Given the description of an element on the screen output the (x, y) to click on. 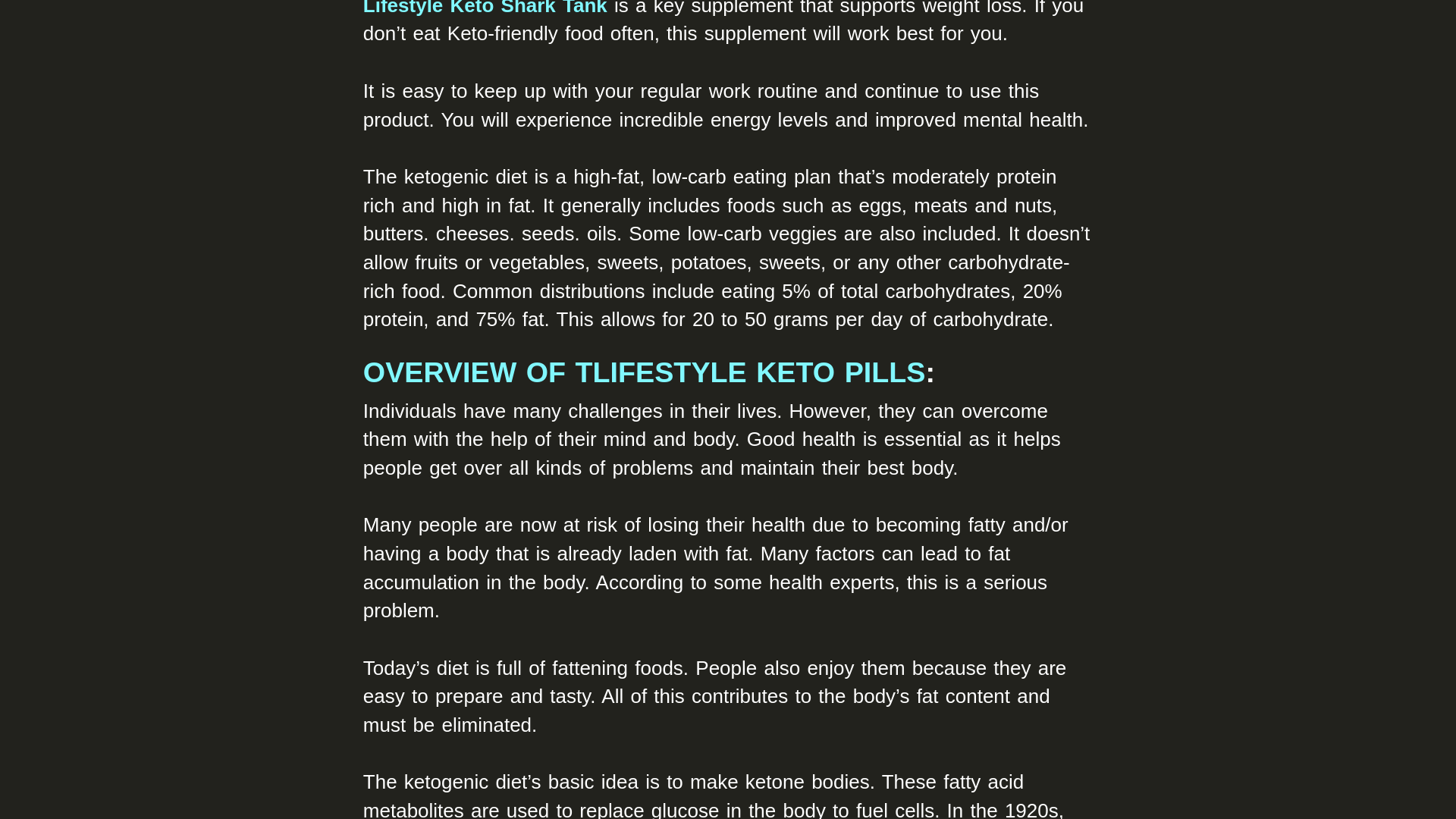
Lifestyle Keto Shark Tank (484, 8)
OVERVIEW OF TLIFESTYLE KETO PILLS (644, 372)
